Given the description of an element on the screen output the (x, y) to click on. 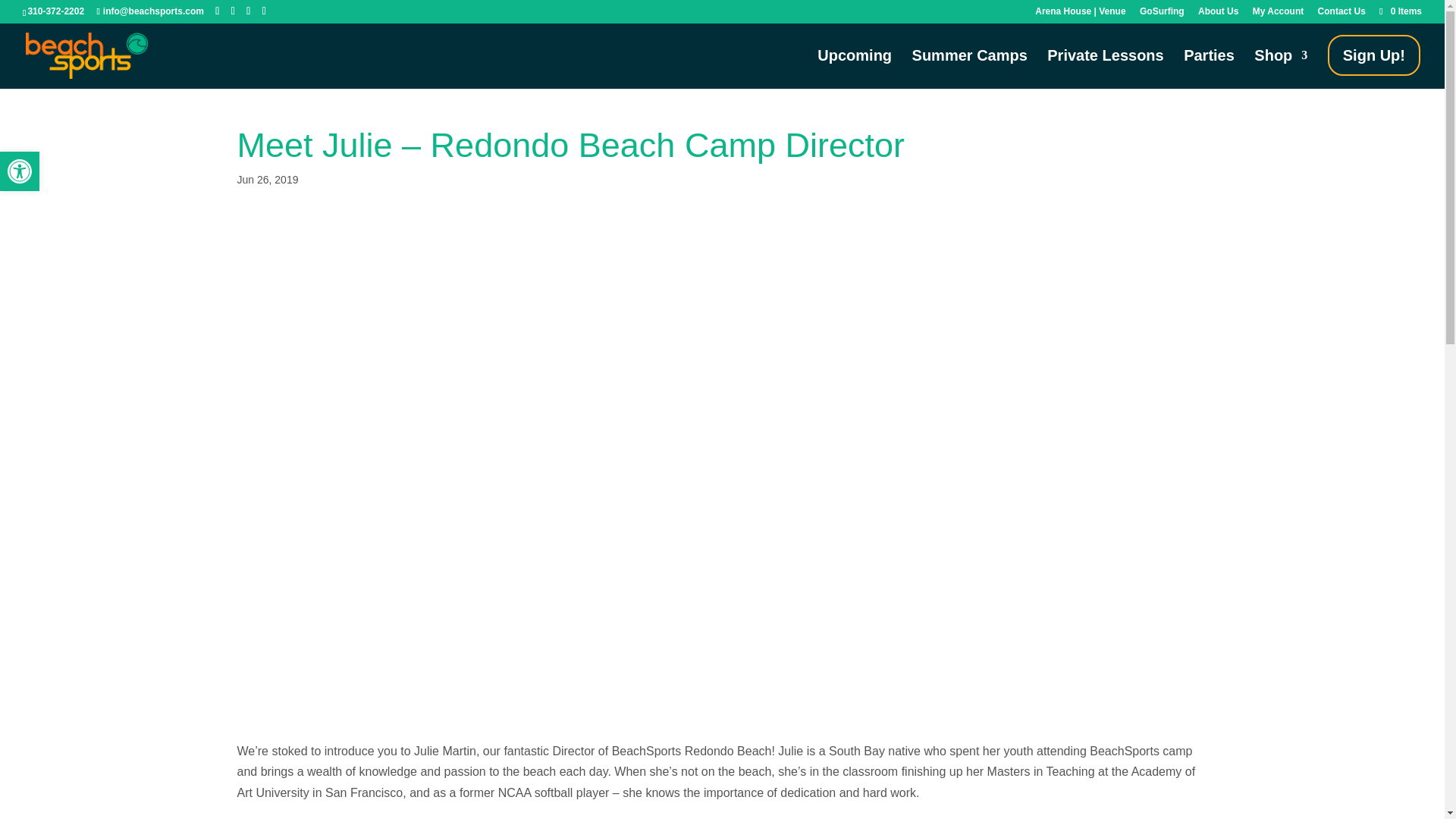
Accessibility Tools (19, 170)
Accessibility Tools (19, 170)
